Given the description of an element on the screen output the (x, y) to click on. 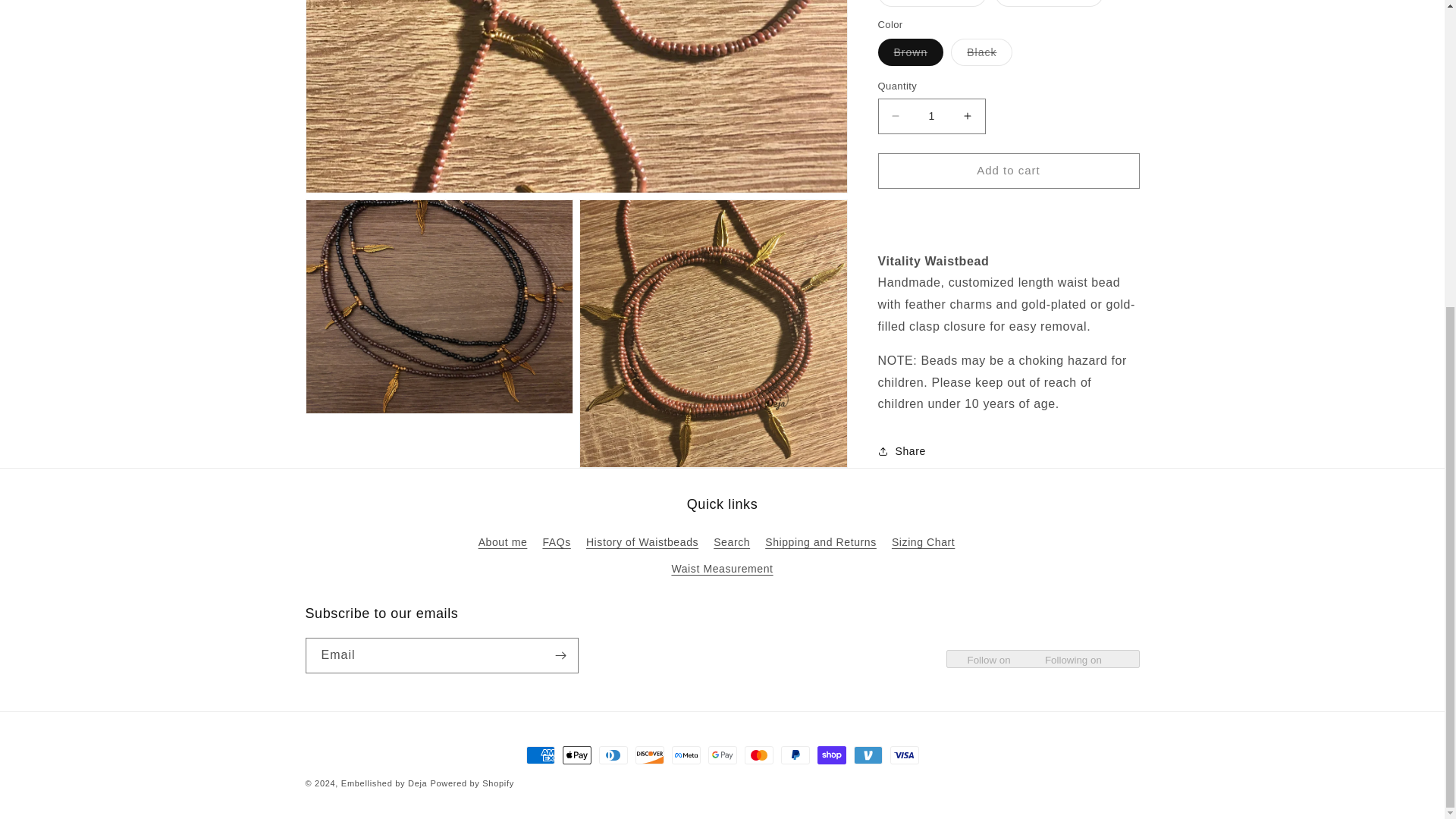
1 (931, 104)
